Given the description of an element on the screen output the (x, y) to click on. 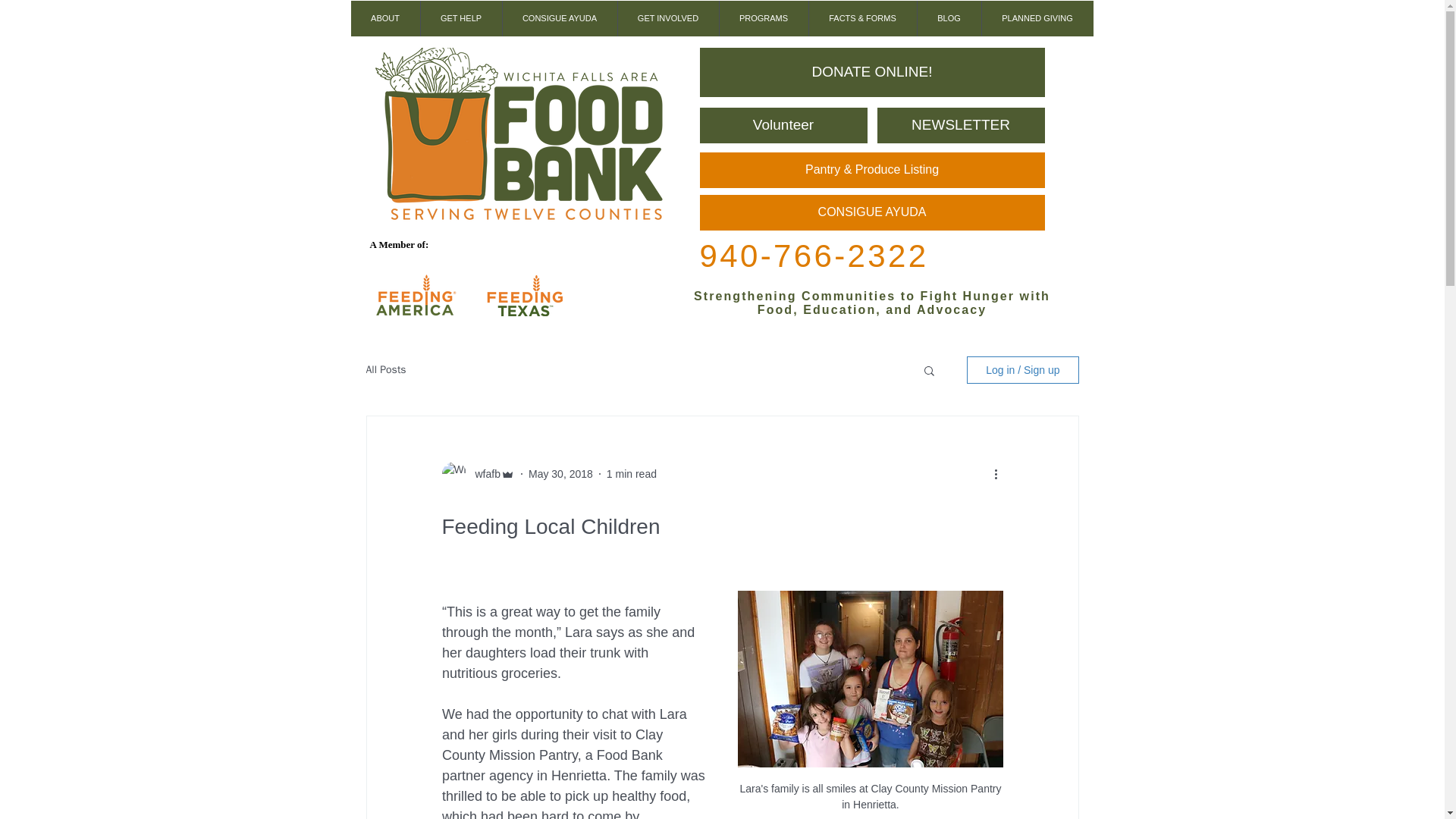
feeding-texas.png (523, 295)
ABOUT (384, 18)
GET INVOLVED (668, 18)
NEWSLETTER (959, 125)
940-766-2322 (813, 256)
BLOG (947, 18)
DONATE ONLINE! (870, 72)
May 30, 2018 (560, 472)
wfafb (482, 473)
CONSIGUE AYUDA (559, 18)
